Given the description of an element on the screen output the (x, y) to click on. 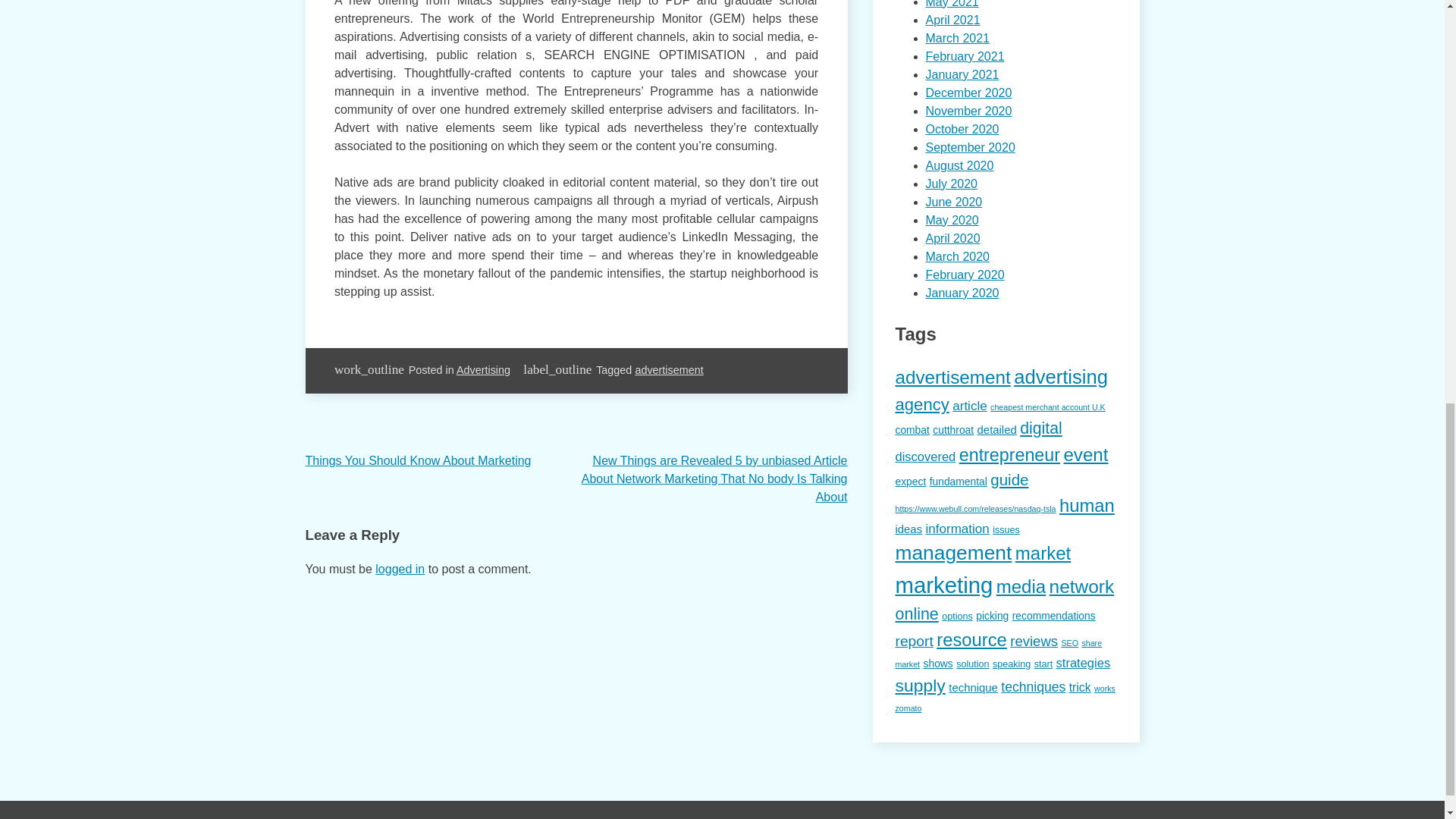
February 2021 (964, 56)
January 2021 (961, 74)
Advertising (484, 369)
October 2020 (961, 128)
March 2021 (957, 38)
Things You Should Know About Marketing (417, 460)
December 2020 (967, 92)
logged in (400, 568)
May 2021 (951, 4)
November 2020 (967, 110)
advertisement (668, 369)
April 2021 (951, 19)
